Given the description of an element on the screen output the (x, y) to click on. 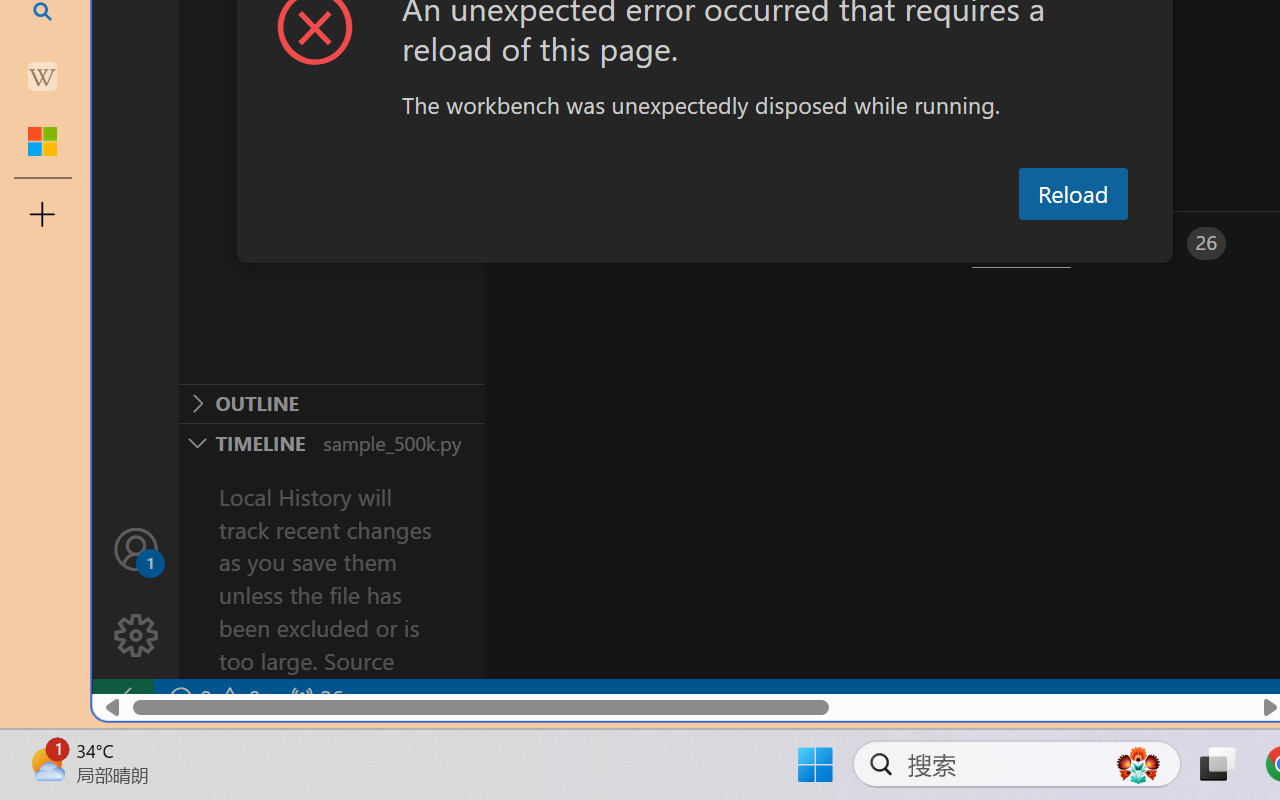
Output (Ctrl+Shift+U) (696, 243)
Timeline Section (331, 442)
Debug Console (Ctrl+Shift+Y) (854, 243)
Terminal (Ctrl+`) (1021, 243)
remote (122, 698)
